Given the description of an element on the screen output the (x, y) to click on. 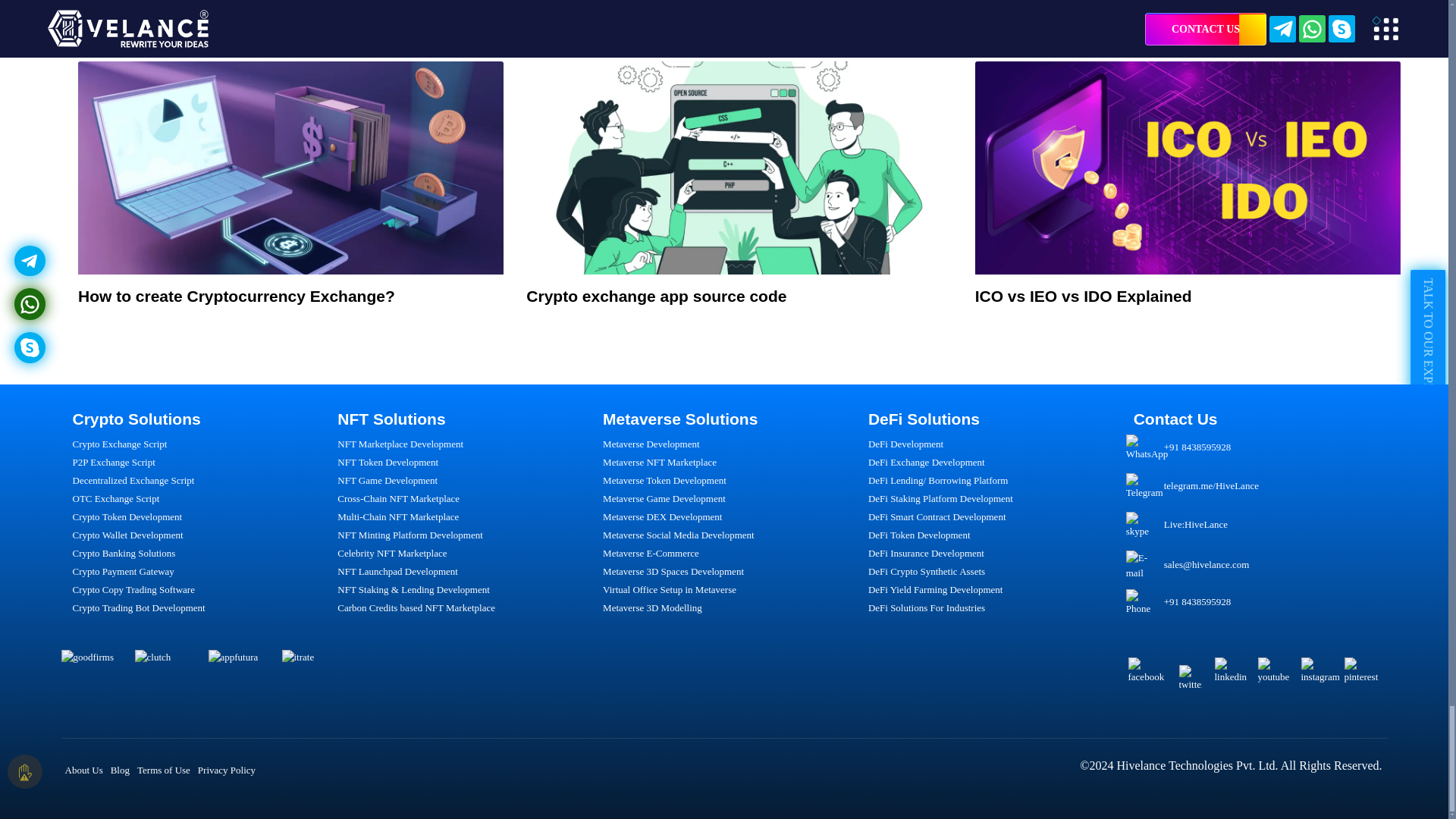
Phone (1141, 602)
Telegram (1144, 486)
WhatsApp (1147, 447)
E-mail (1141, 564)
goodfirms (95, 684)
appfutura (242, 684)
skype (1141, 524)
clutch (169, 684)
